Given the description of an element on the screen output the (x, y) to click on. 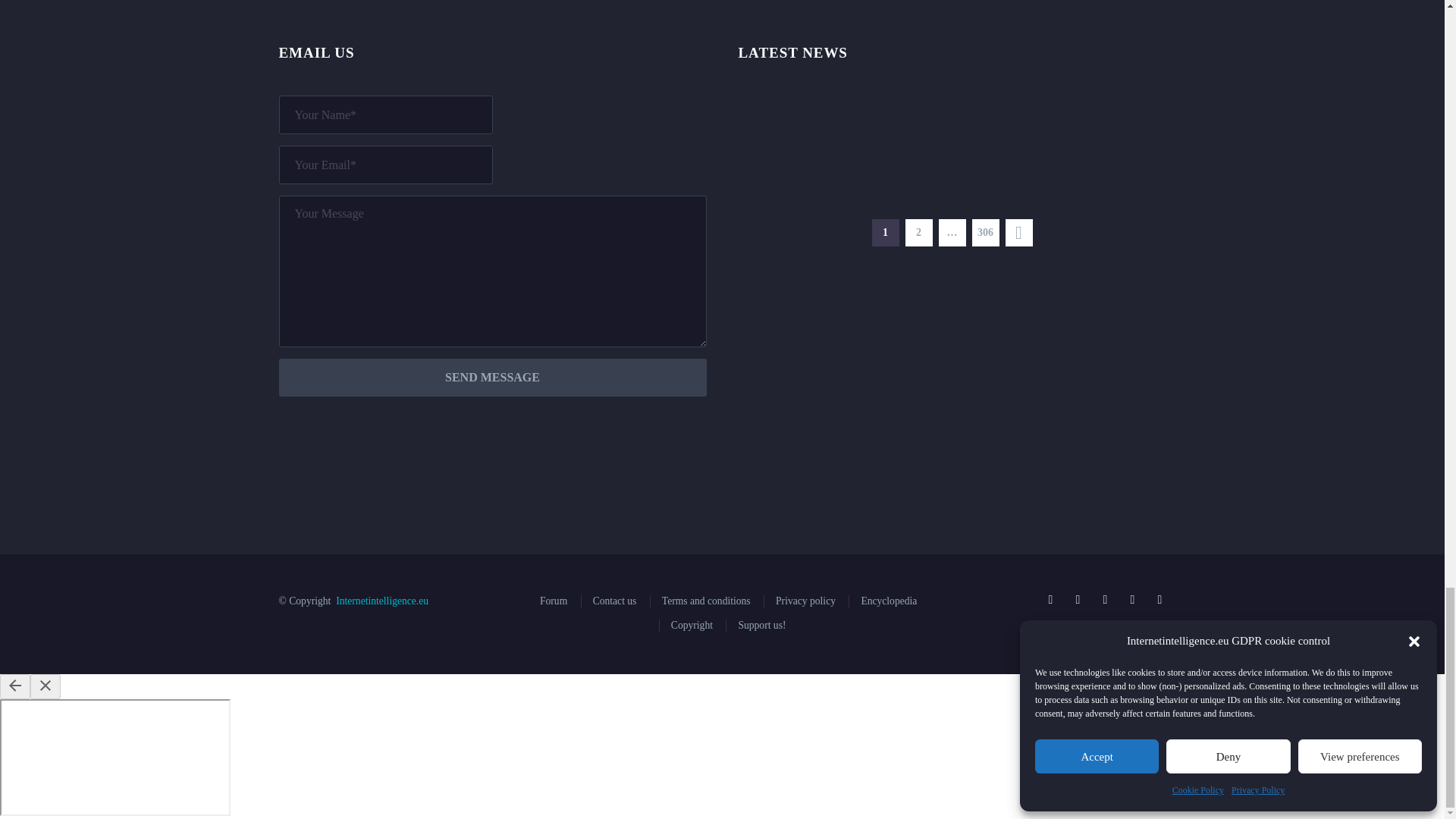
Send Message (492, 377)
